Given the description of an element on the screen output the (x, y) to click on. 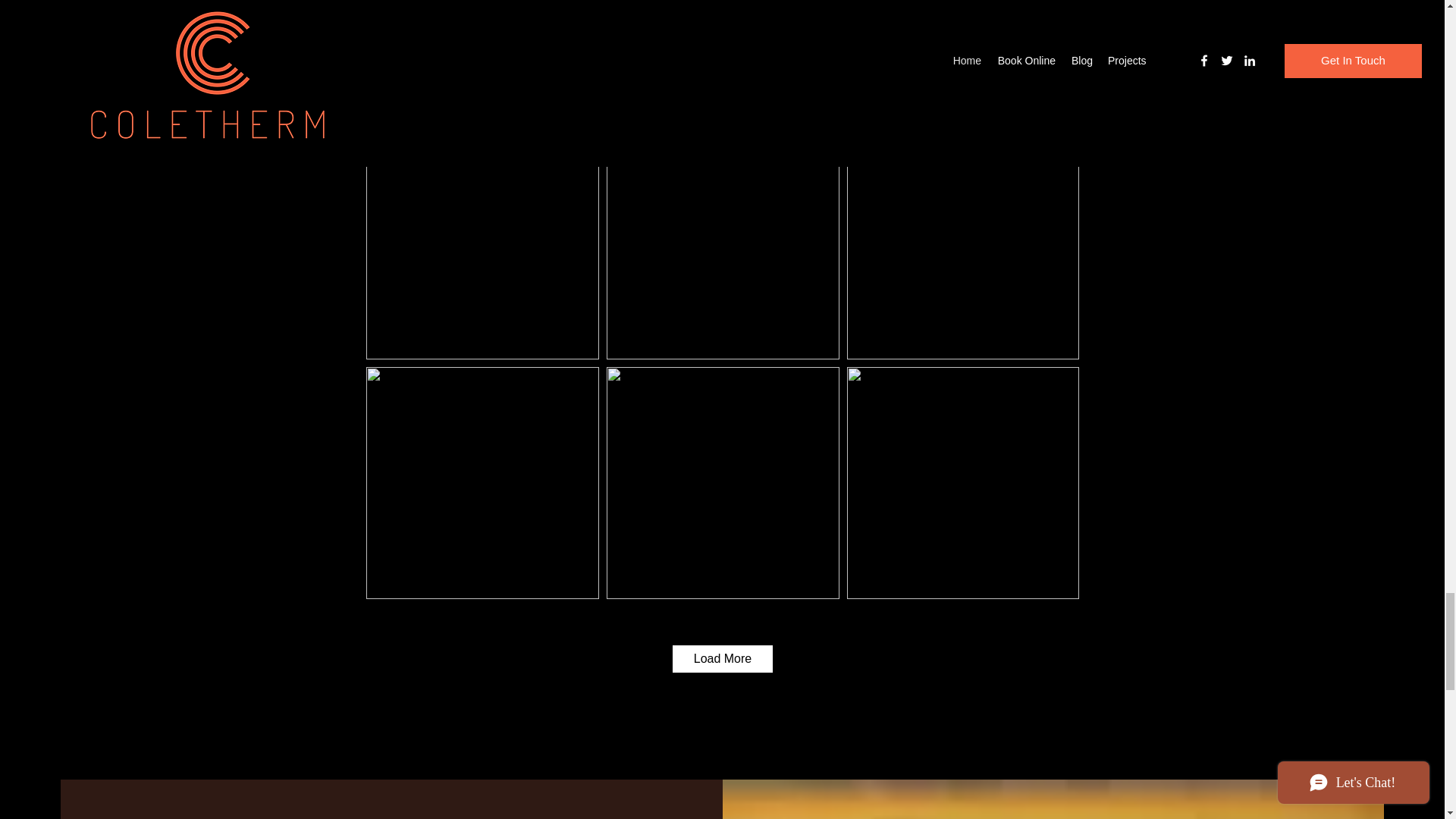
Matilda's Blanket - Internal Wall Insulation (933, 1)
Knauf Earthwool Loft Roll Insulation (682, 1)
